Given the description of an element on the screen output the (x, y) to click on. 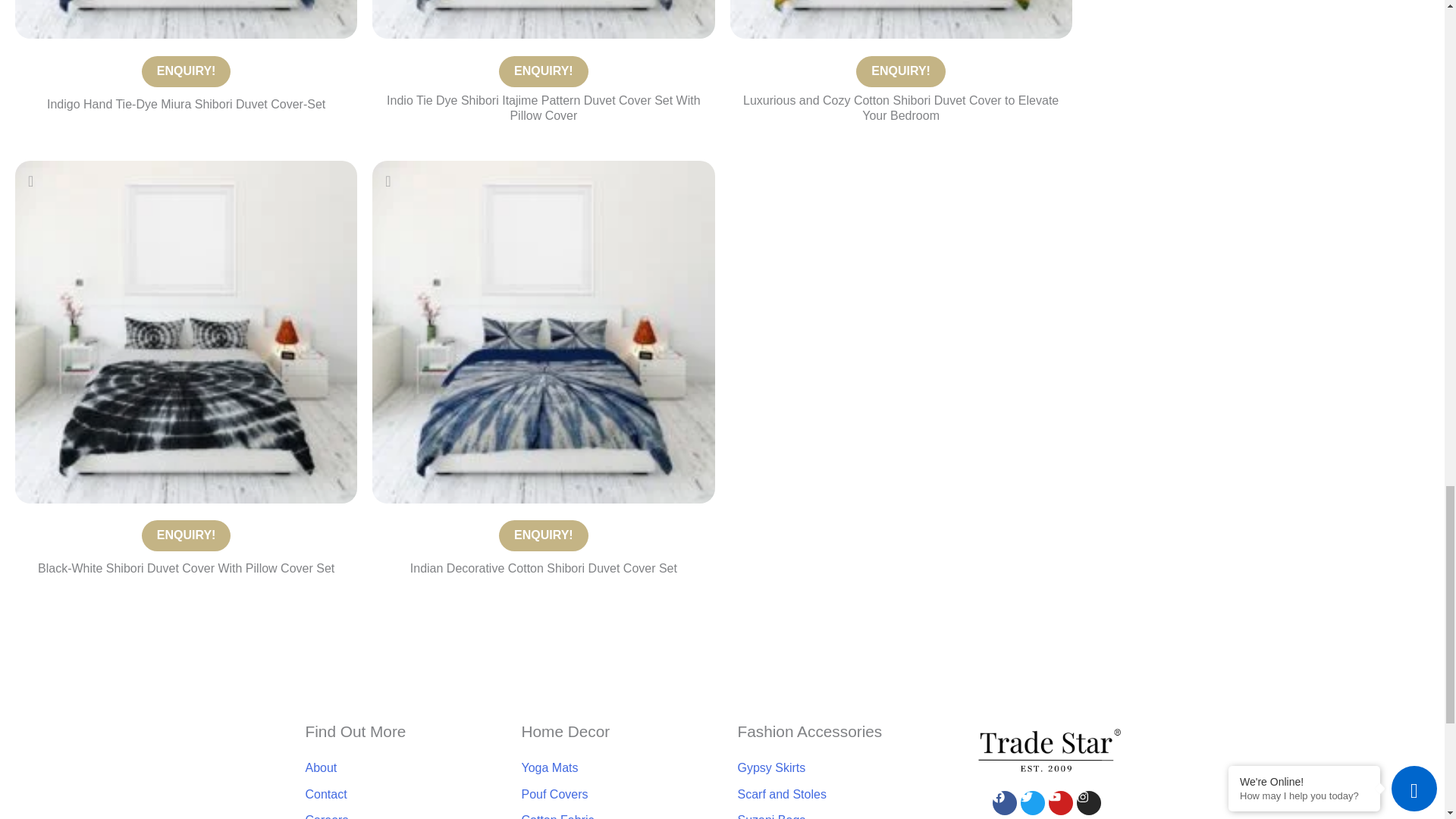
P1 Trade Star Exports (543, 19)
Indigo Hand Tie-Dye Miura Shibori Duvet Cover-Set (186, 71)
P1 Trade Star Exports (185, 19)
